Given the description of an element on the screen output the (x, y) to click on. 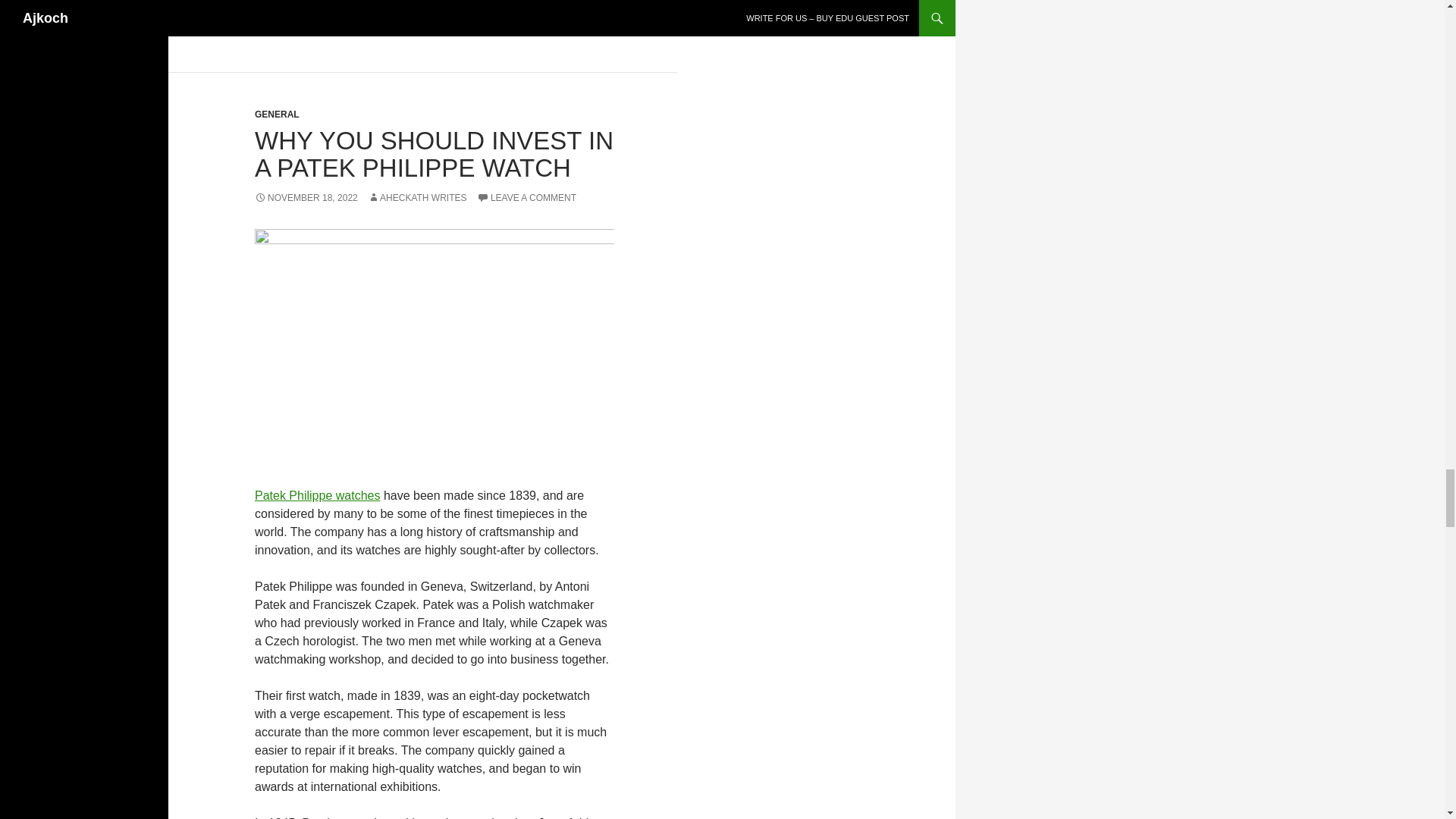
NOVEMBER 18, 2022 (306, 197)
WHY YOU SHOULD INVEST IN A PATEK PHILIPPE WATCH (433, 153)
AHECKATH WRITES (416, 197)
LEAVE A COMMENT (526, 197)
Patek Philippe watches (317, 495)
GENERAL (276, 113)
